Given the description of an element on the screen output the (x, y) to click on. 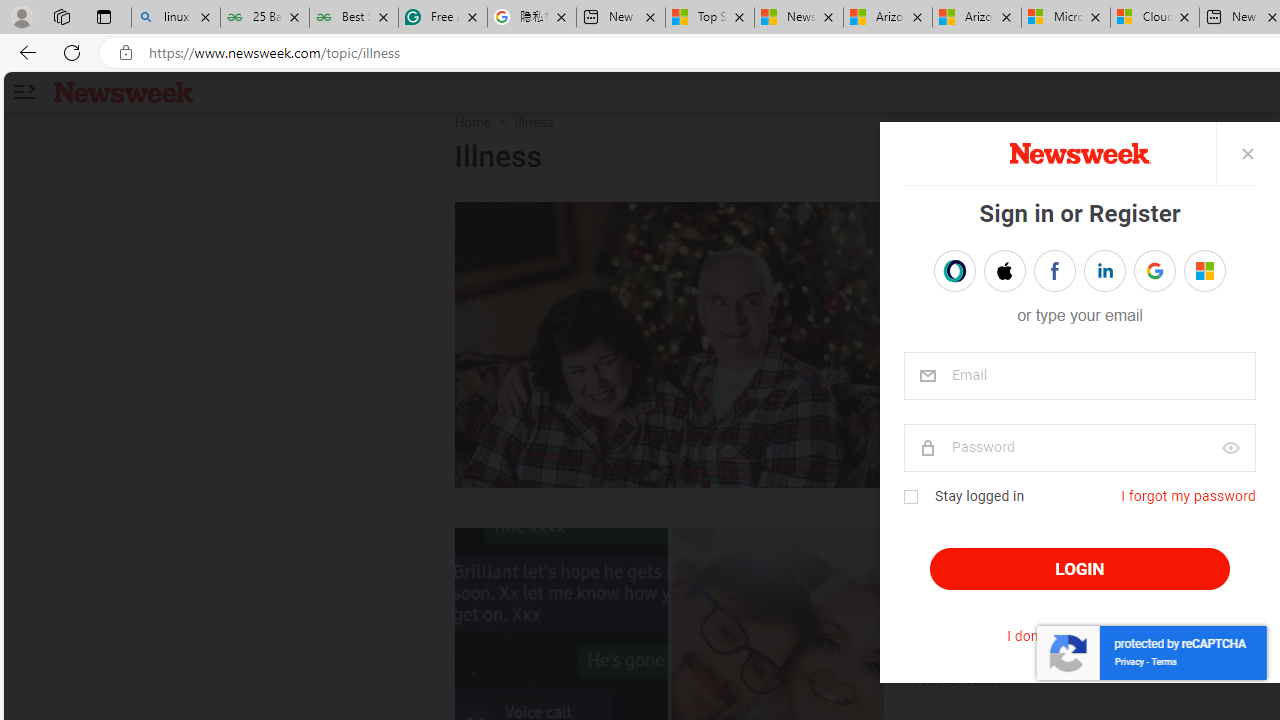
Eugene (1191, 271)
LOGIN (1079, 569)
ON THE INTERNET (1014, 548)
Cloud Computing Services | Microsoft Azure (1155, 17)
AutomationID: side-arrow (23, 92)
Sign in with GOOGLE (1154, 270)
25 Basic Linux Commands For Beginners - GeeksforGeeks (264, 17)
Newsweek logo (123, 91)
